Given the description of an element on the screen output the (x, y) to click on. 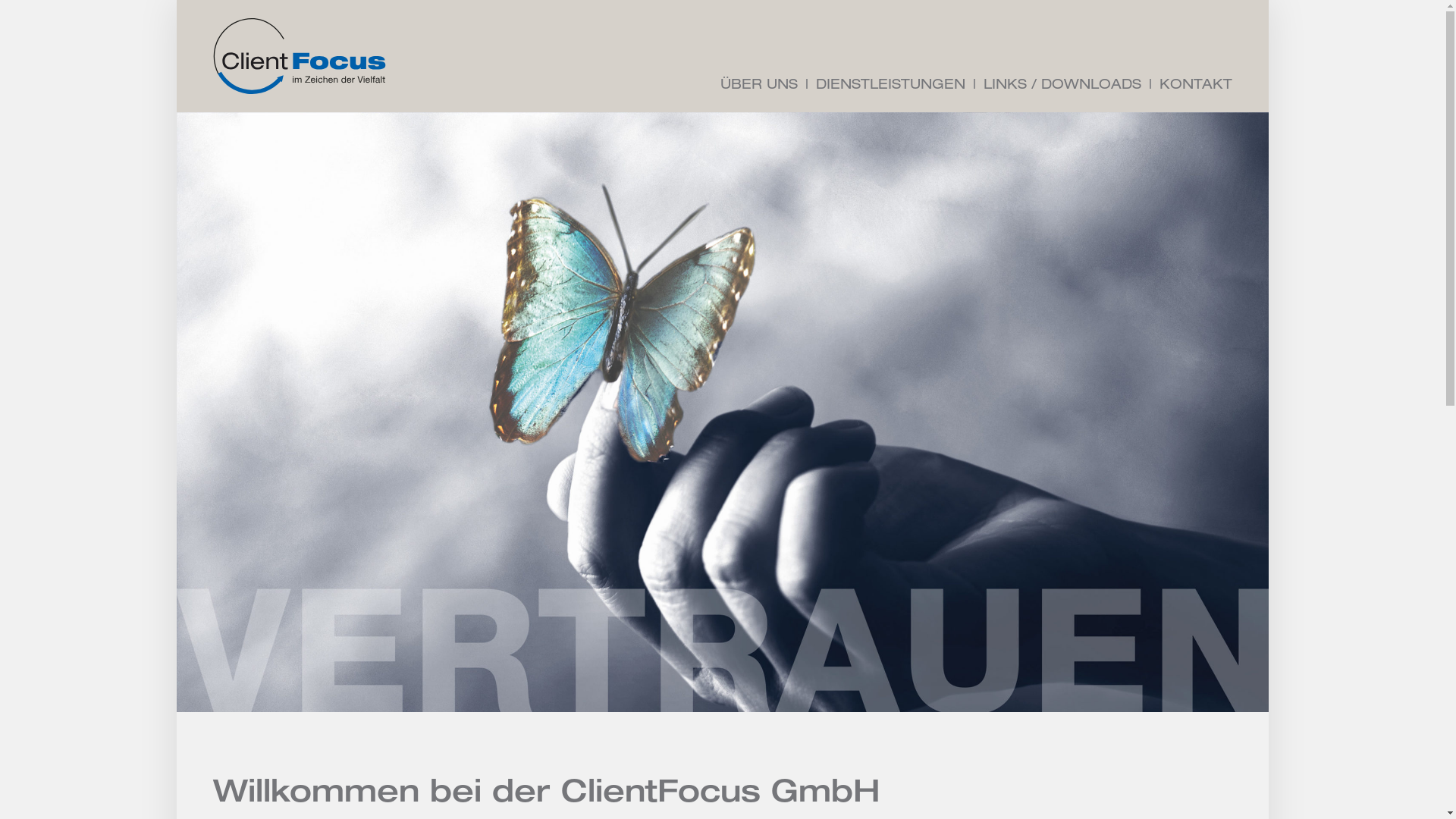
DIENSTLEISTUNGEN Element type: text (890, 85)
KONTAKT Element type: text (1194, 85)
LINKS / DOWNLOADS Element type: text (1061, 85)
ClientFocus GmbH - Im Zeichen der Vielfalt Element type: hover (298, 56)
